Given the description of an element on the screen output the (x, y) to click on. 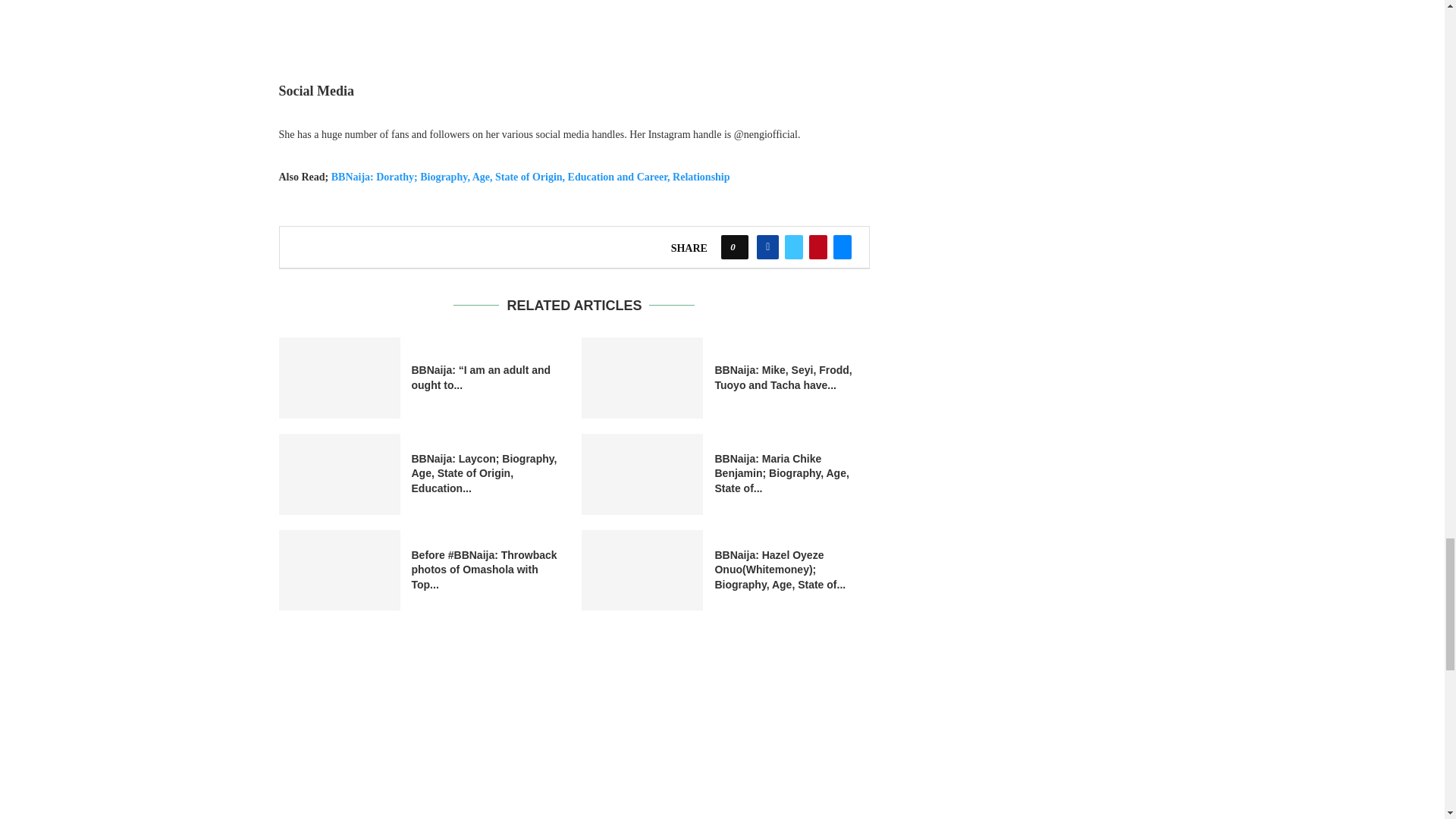
BBNaija: Nengi (573, 18)
